Given the description of an element on the screen output the (x, y) to click on. 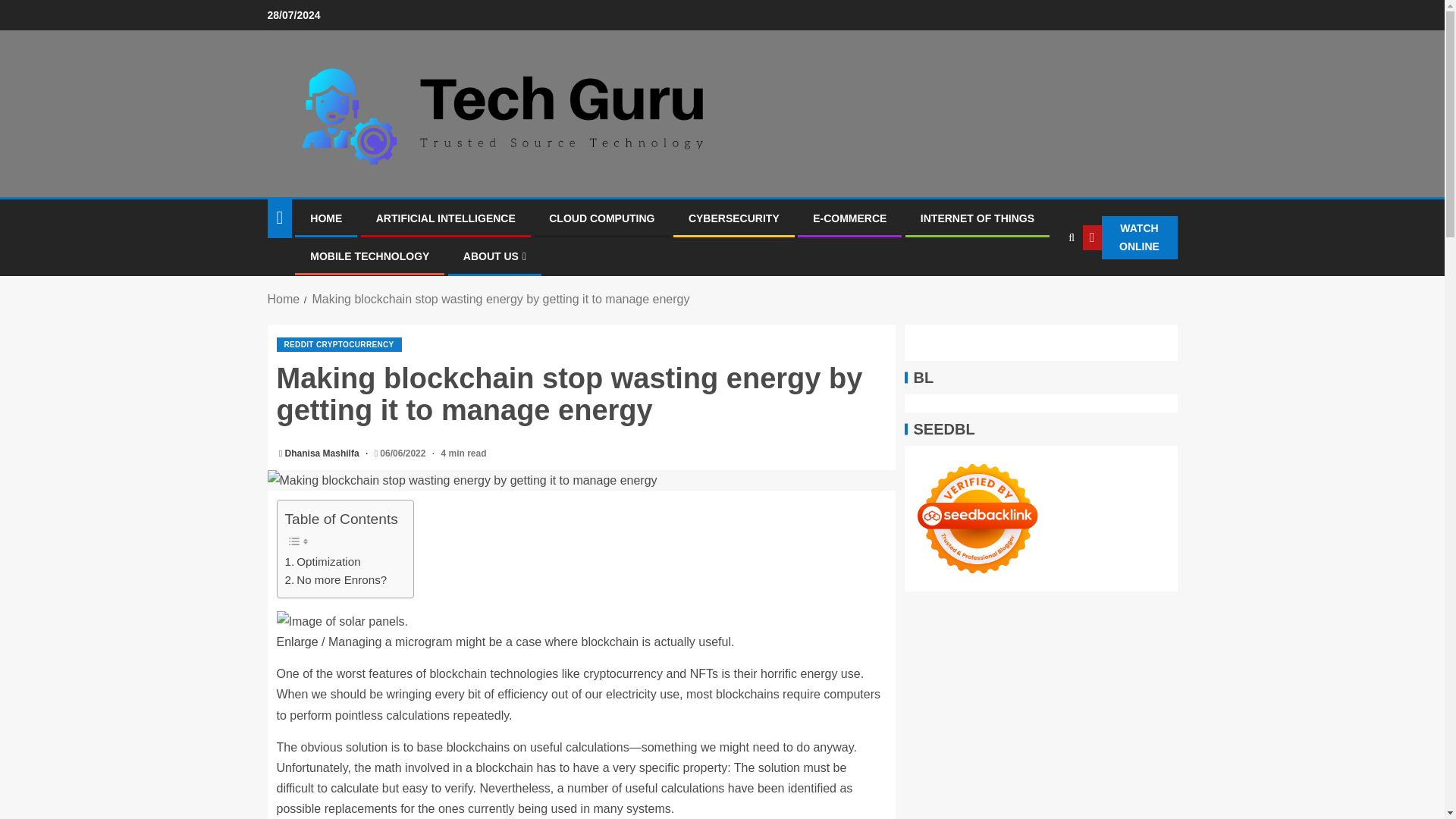
CYBERSECURITY (733, 218)
Dhanisa Mashilfa (323, 452)
Home (282, 298)
Seedbacklink (976, 518)
MOBILE TECHNOLOGY (369, 256)
CLOUD COMPUTING (600, 218)
INTERNET OF THINGS (976, 218)
E-COMMERCE (849, 218)
ABOUT US (494, 256)
Enlarge (296, 641)
Search (1039, 284)
Optimization (323, 561)
REDDIT CRYPTOCURRENCY (338, 344)
